Given the description of an element on the screen output the (x, y) to click on. 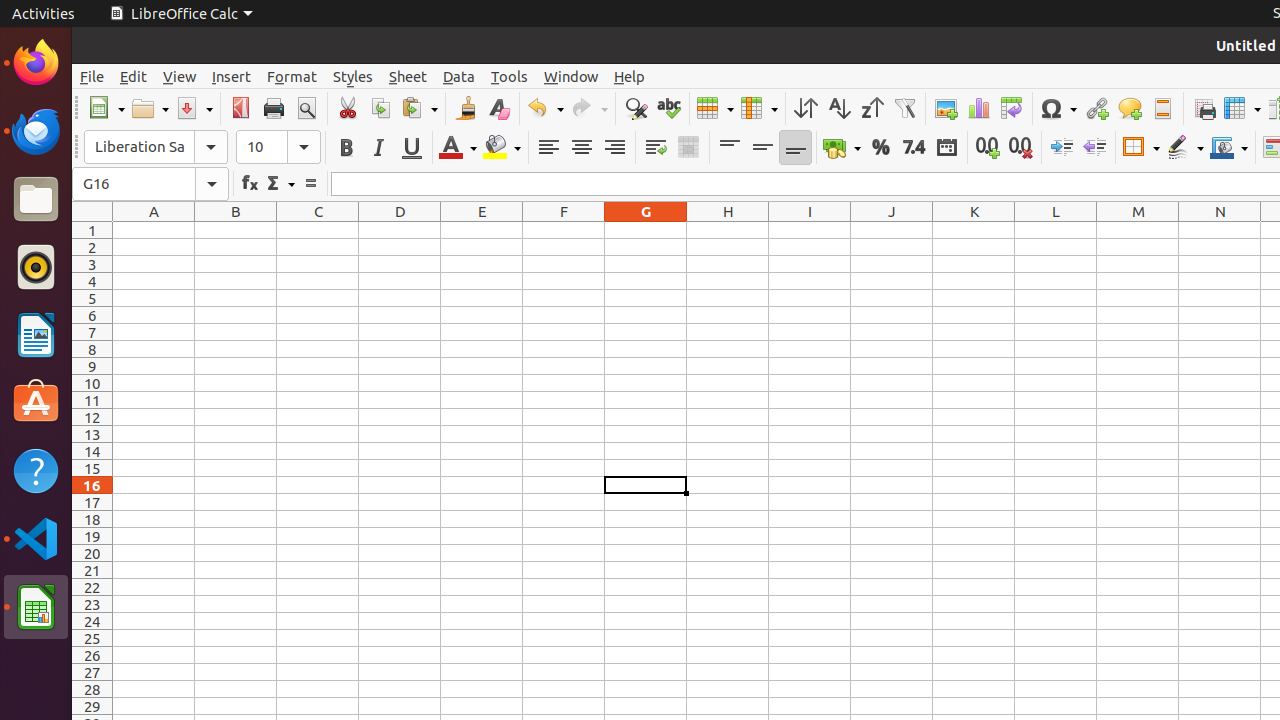
PDF Element type: push-button (240, 108)
Sheet Element type: menu (408, 76)
Visual Studio Code Element type: push-button (36, 538)
Merge and Center Cells Element type: push-button (688, 147)
